Given the description of an element on the screen output the (x, y) to click on. 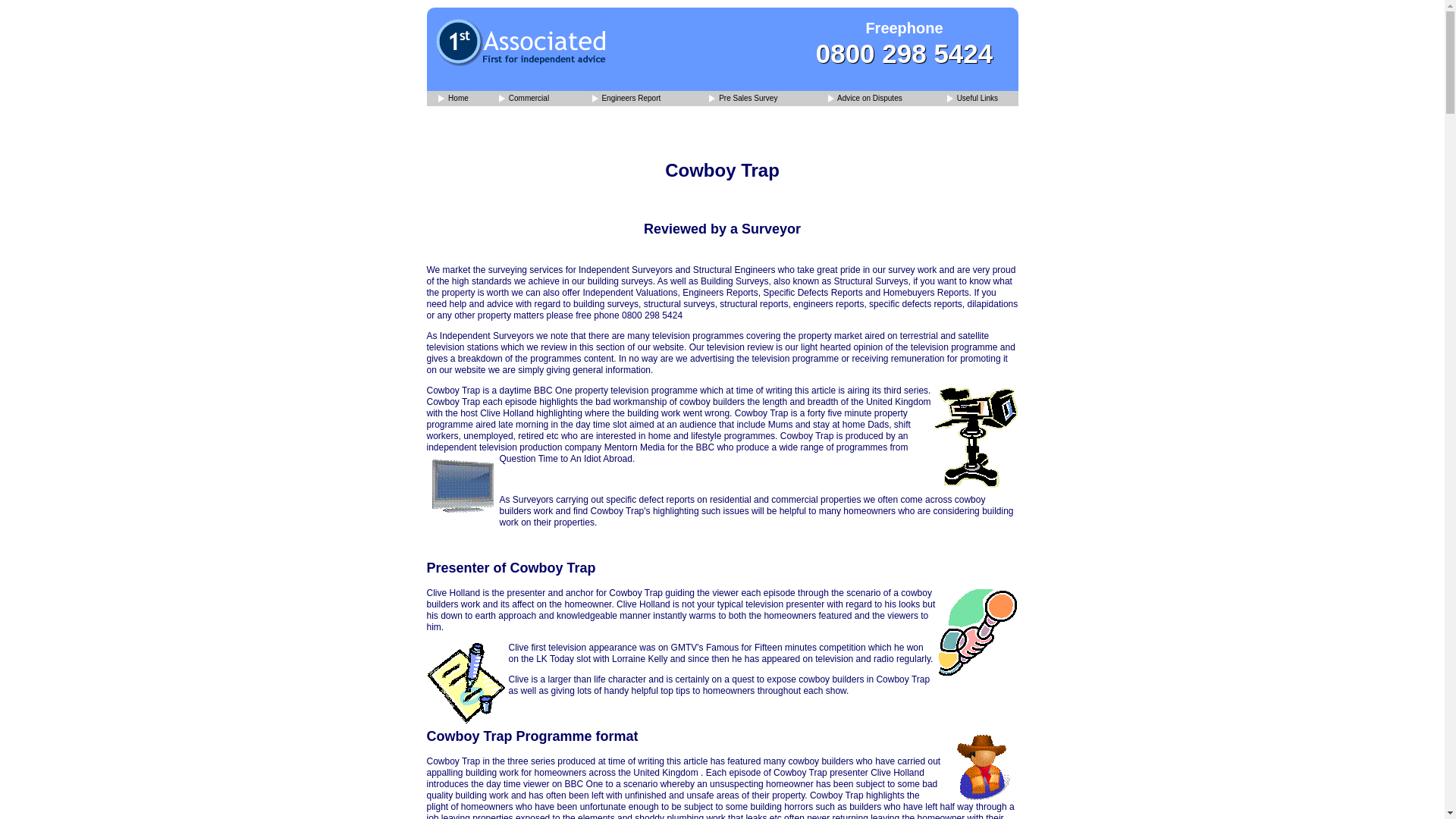
Commercial (523, 98)
Useful Links (971, 98)
Useful Links (971, 98)
Advice on Disputes (865, 98)
Pre Sales Surveys (742, 98)
Home (452, 98)
Property Related Disputes (865, 98)
Pre Sales Survey (742, 98)
1st Associated Chartered Surveyors (452, 98)
1st Associated Chartered Surveyors (523, 98)
0800 298 5424 (903, 52)
Engineers Report (626, 98)
Engineers Reports (626, 98)
